Given the description of an element on the screen output the (x, y) to click on. 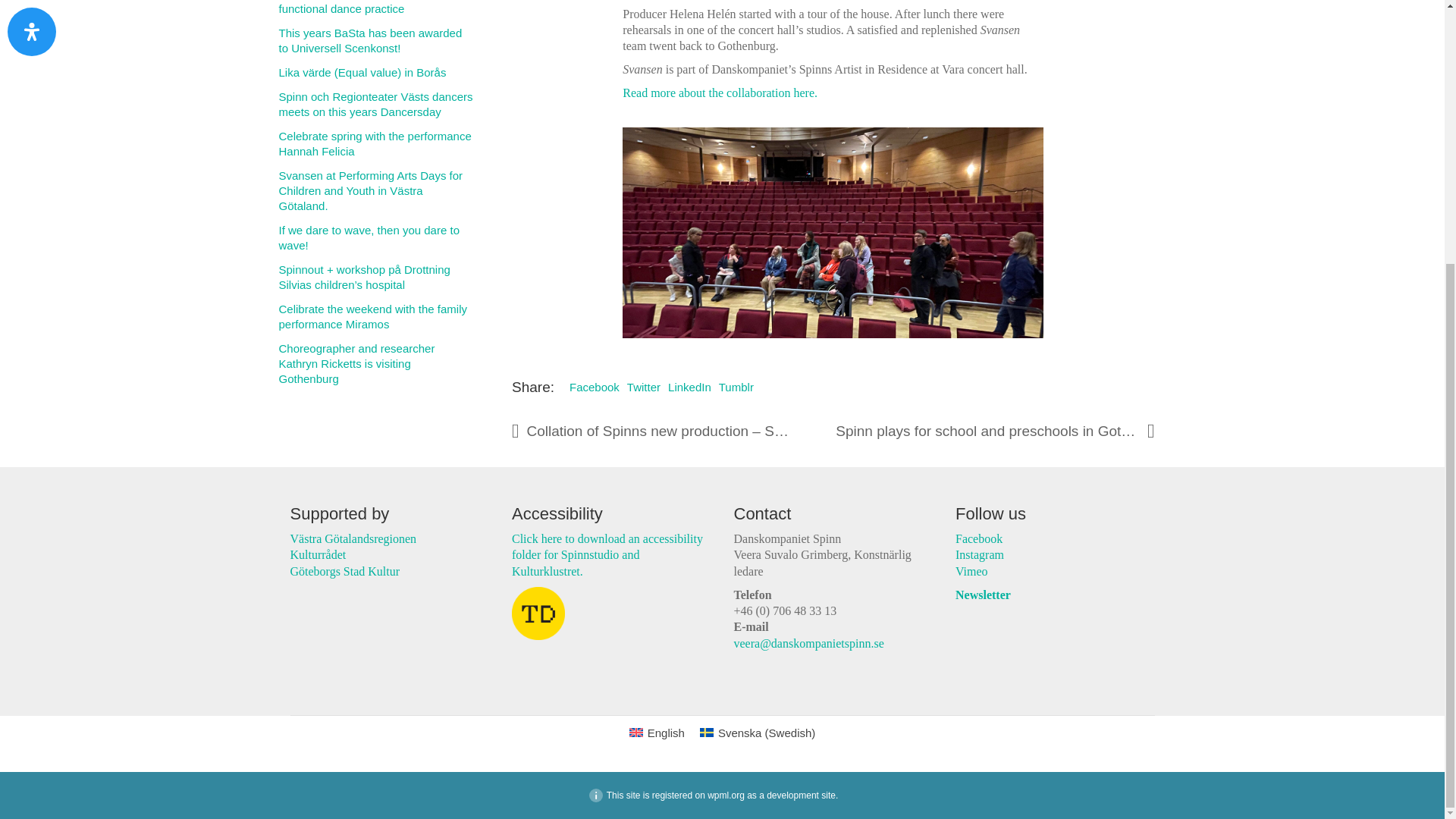
Spinn plays for school and preschools in Gothenburg (994, 431)
This years BaSta has been awarded to Universell Scenkonst! (376, 40)
Twitter (644, 387)
Celebrate spring with the performance Hannah Felicia (376, 143)
LinkedIn (689, 387)
Tumblr (736, 387)
If we dare to wave, then you dare to wave! (376, 237)
Facebook (594, 387)
Celibrate the weekend with the family performance Miramos  (376, 317)
Read more about the collaboration here. (719, 92)
